Given the description of an element on the screen output the (x, y) to click on. 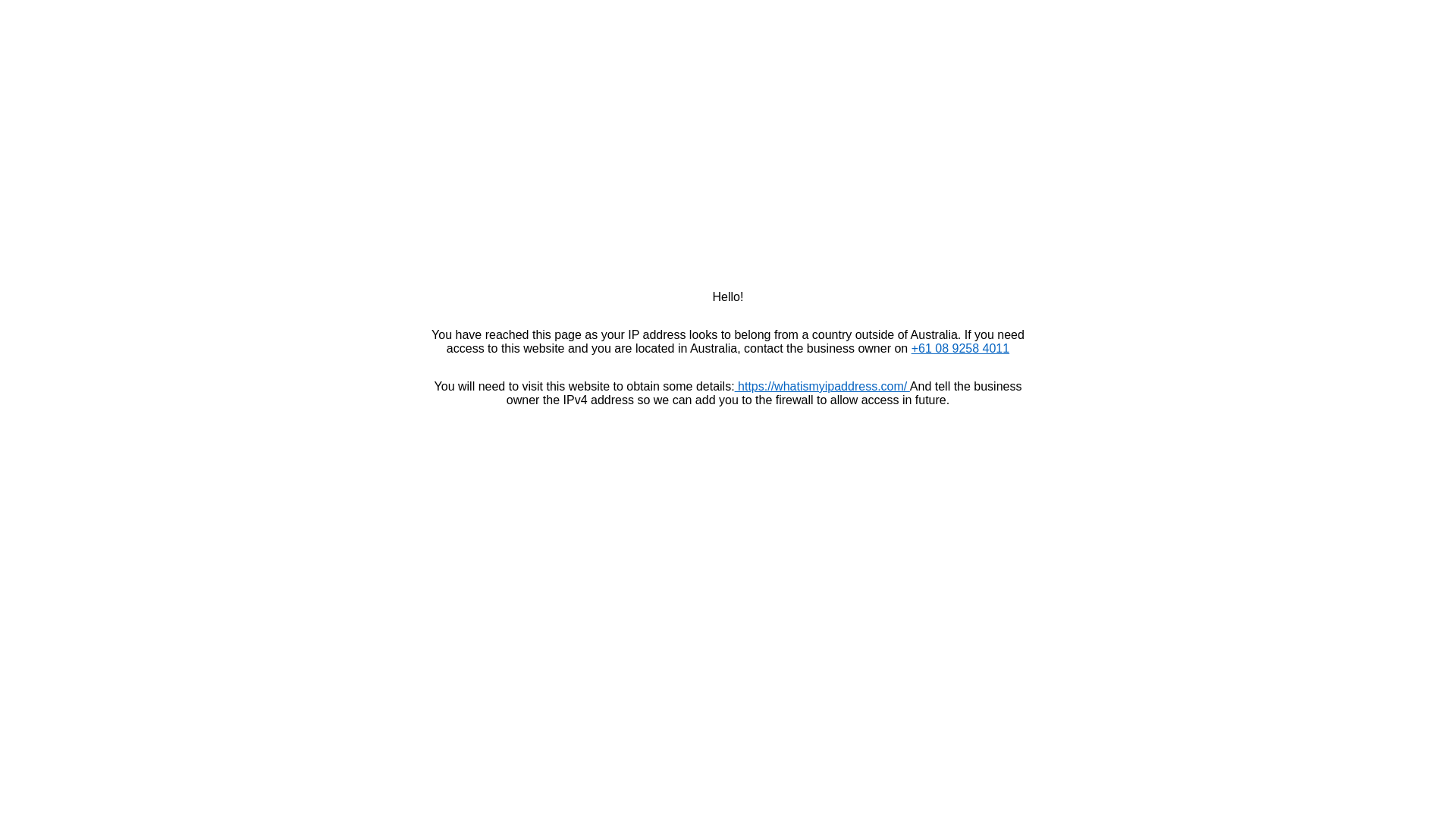
+61 08 9258 4011 Element type: text (960, 348)
https://whatismyipaddress.com/ Element type: text (822, 385)
